Given the description of an element on the screen output the (x, y) to click on. 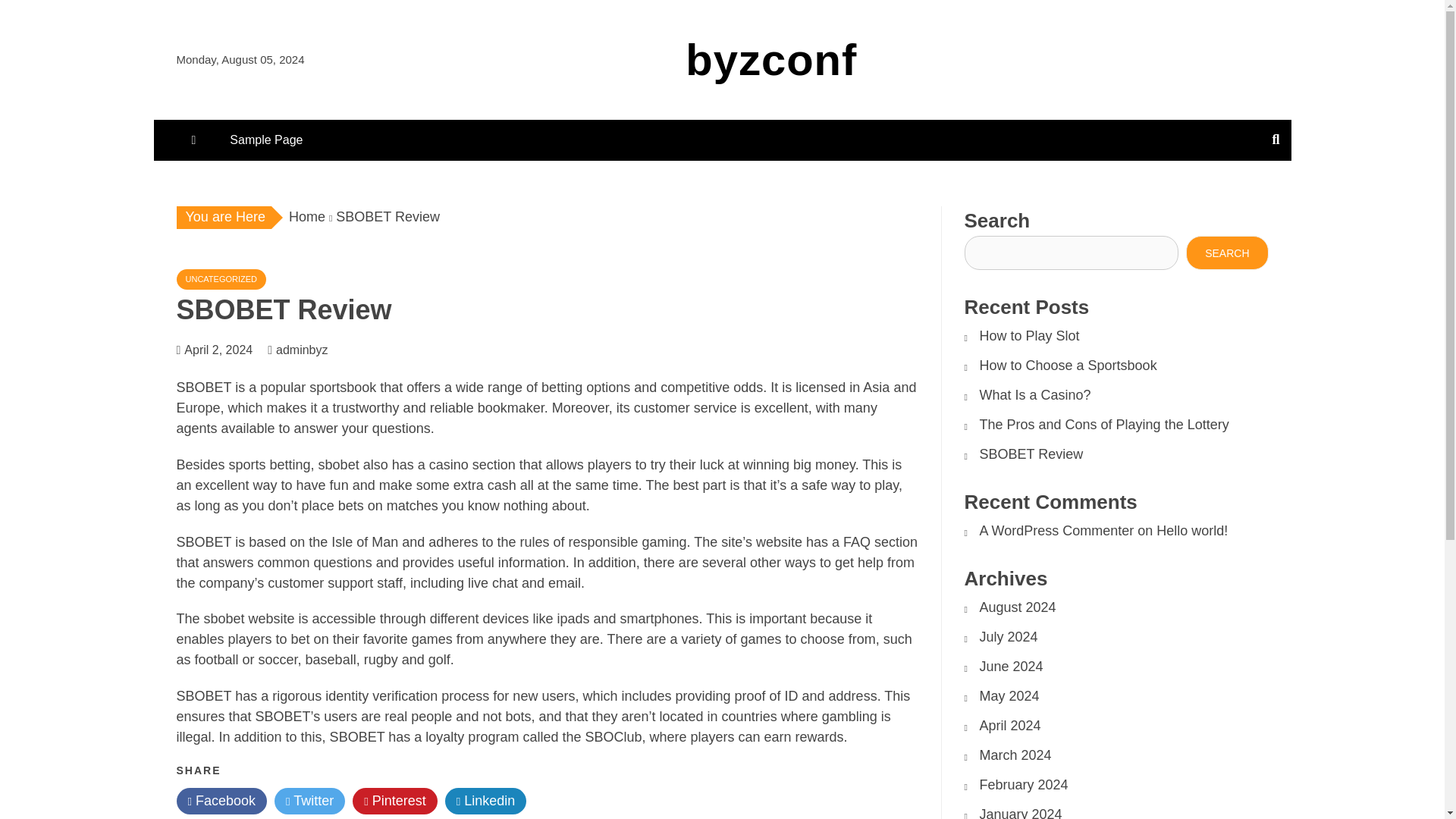
How to Choose a Sportsbook (1068, 365)
How to Play Slot (1029, 335)
Linkedin (486, 800)
byzconf (771, 59)
July 2024 (1008, 636)
The Pros and Cons of Playing the Lottery (1103, 424)
adminbyz (309, 349)
May 2024 (1009, 695)
Hello world! (1191, 530)
February 2024 (1023, 784)
